Given the description of an element on the screen output the (x, y) to click on. 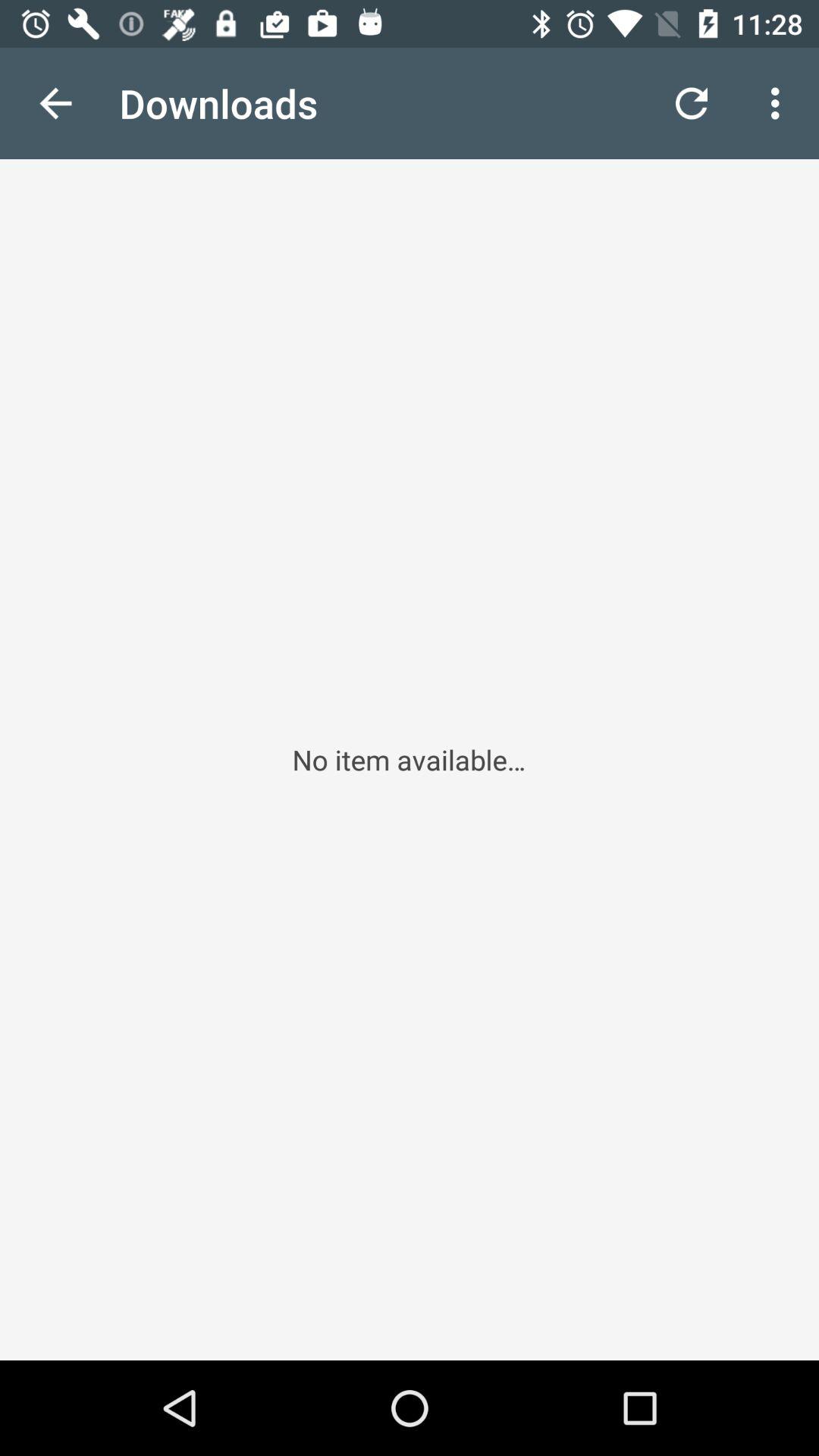
launch the item to the left of the downloads icon (55, 103)
